Given the description of an element on the screen output the (x, y) to click on. 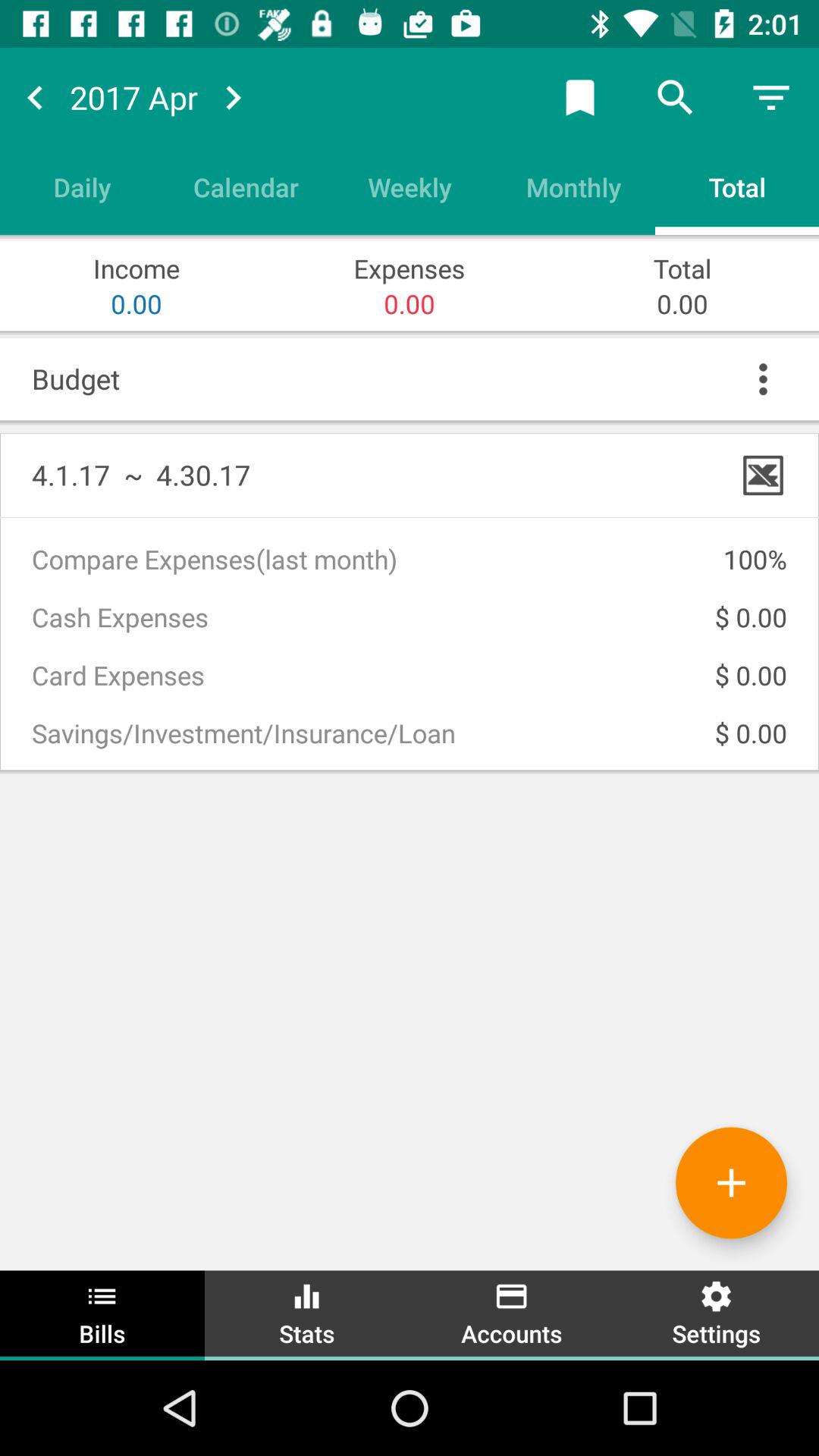
launch item to the left of the weekly icon (245, 186)
